Given the description of an element on the screen output the (x, y) to click on. 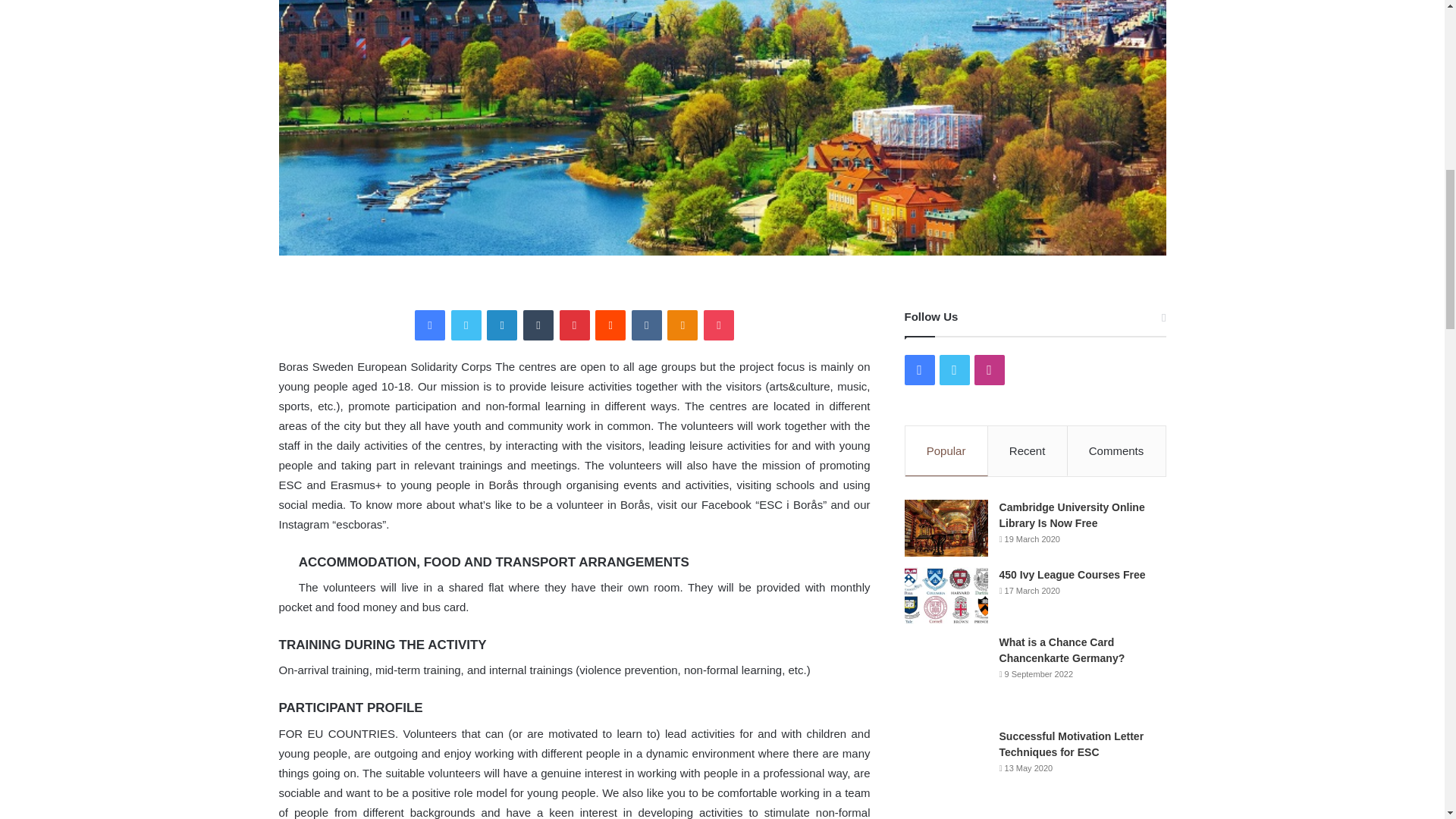
Tumblr (537, 325)
Odnoklassniki (681, 325)
Tumblr (537, 325)
Reddit (610, 325)
LinkedIn (501, 325)
LinkedIn (501, 325)
VKontakte (646, 325)
Pinterest (574, 325)
Facebook (429, 325)
Twitter (466, 325)
Facebook (429, 325)
Twitter (466, 325)
